Given the description of an element on the screen output the (x, y) to click on. 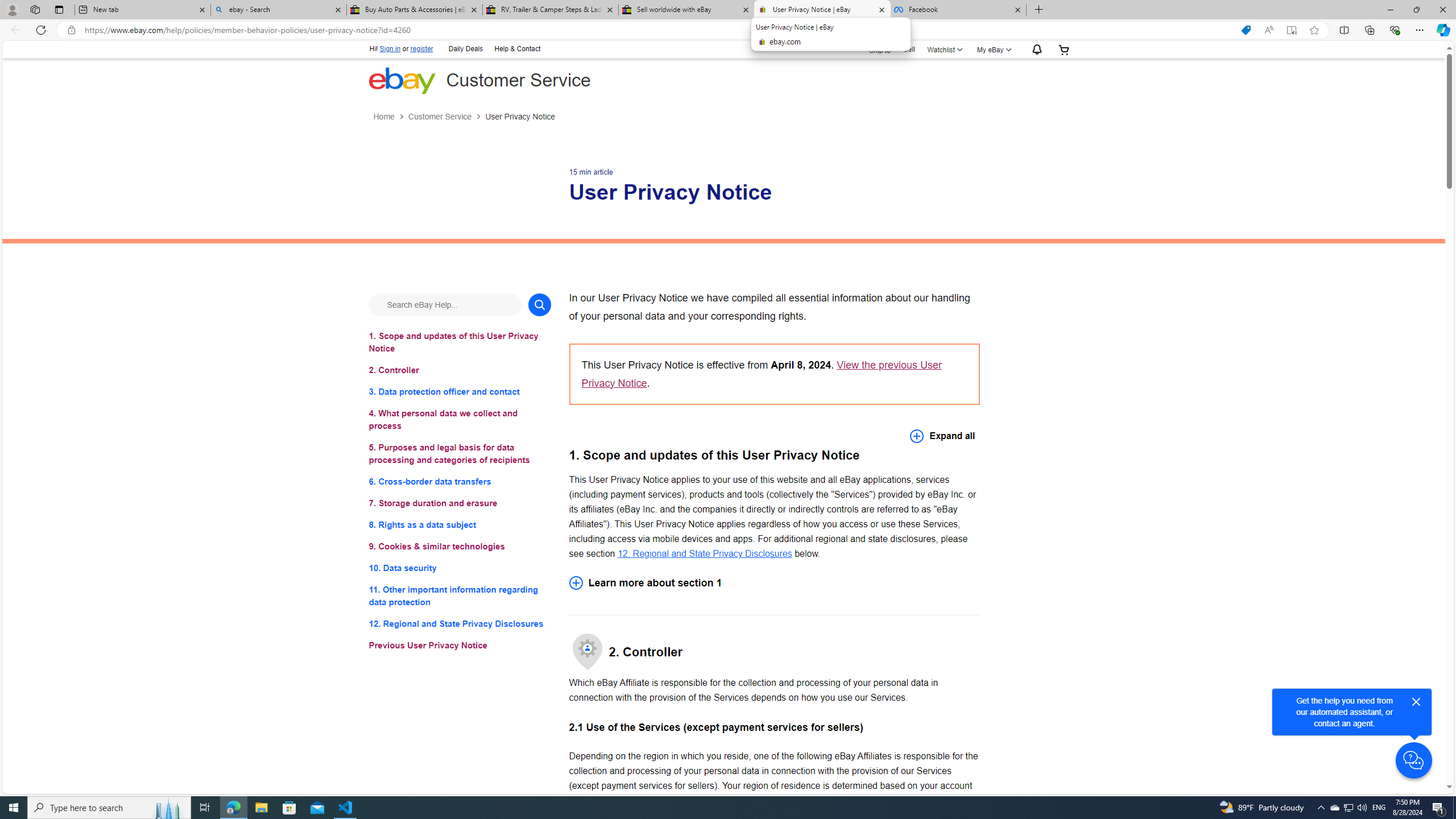
Help & Contact (516, 49)
4. What personal data we collect and process (459, 419)
Buy Auto Parts & Accessories | eBay (414, 9)
Customer Service (446, 117)
1. Scope and updates of this User Privacy Notice (459, 341)
7. Storage duration and erasure (459, 503)
4. What personal data we collect and process (459, 419)
Daily Deals (465, 49)
Ship to (872, 50)
Daily Deals (465, 48)
2. Controller (459, 369)
Sell (908, 49)
